Given the description of an element on the screen output the (x, y) to click on. 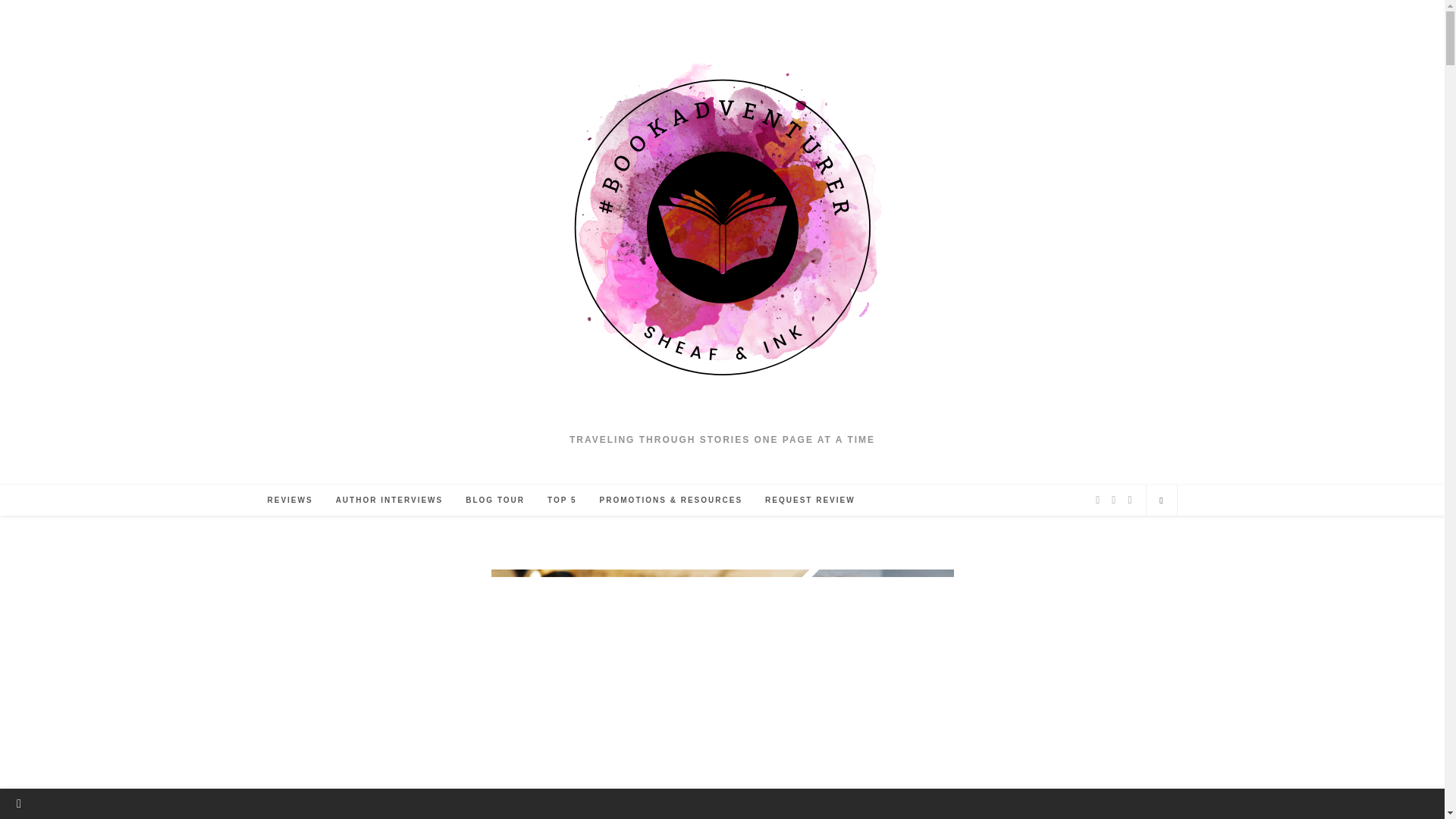
TOP 5 (561, 500)
REQUEST REVIEW (810, 500)
AUTHOR INTERVIEWS (389, 500)
REVIEWS (290, 500)
BLOG TOUR (494, 500)
